Given the description of an element on the screen output the (x, y) to click on. 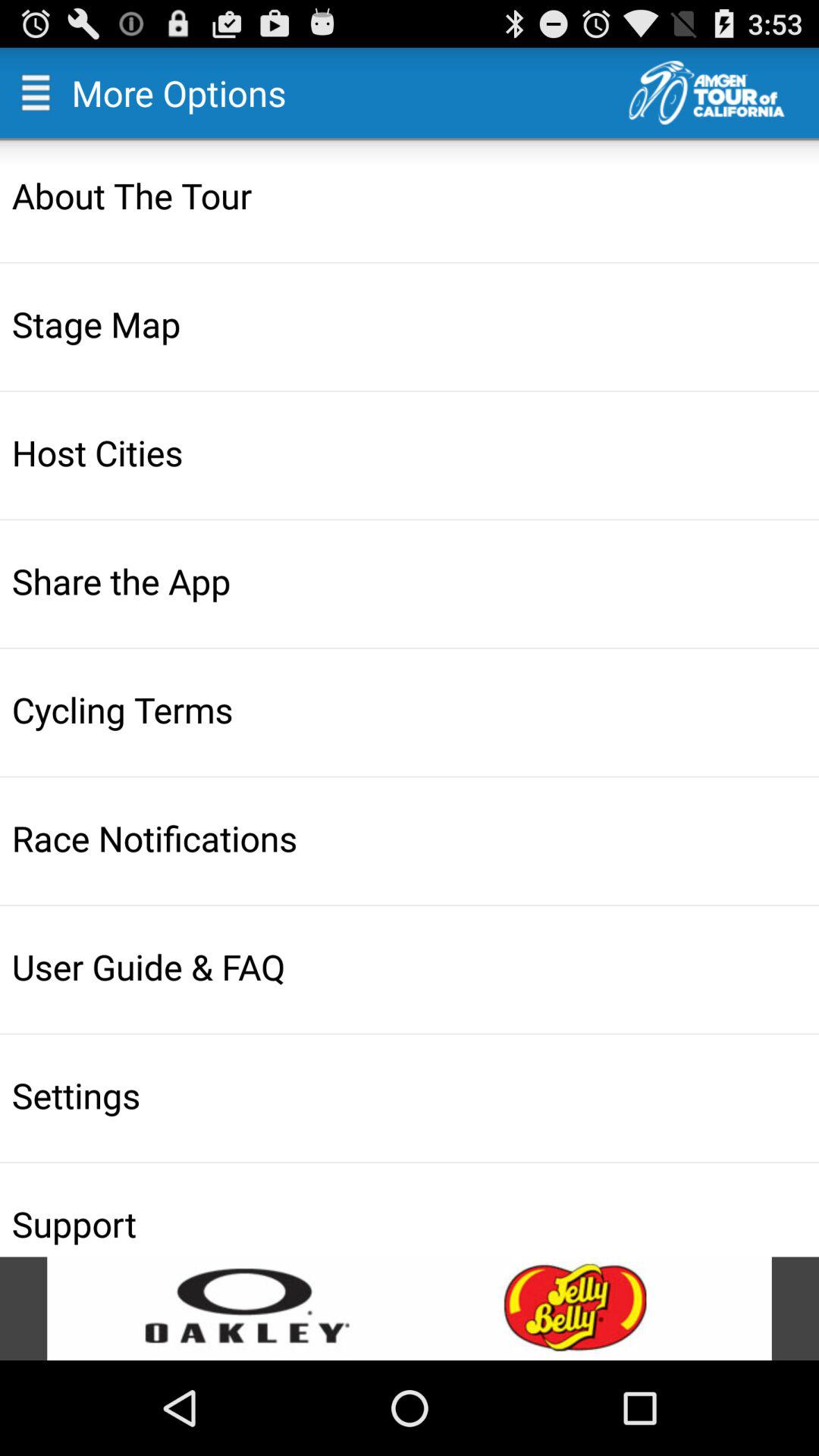
turn on about the tour icon (411, 194)
